Given the description of an element on the screen output the (x, y) to click on. 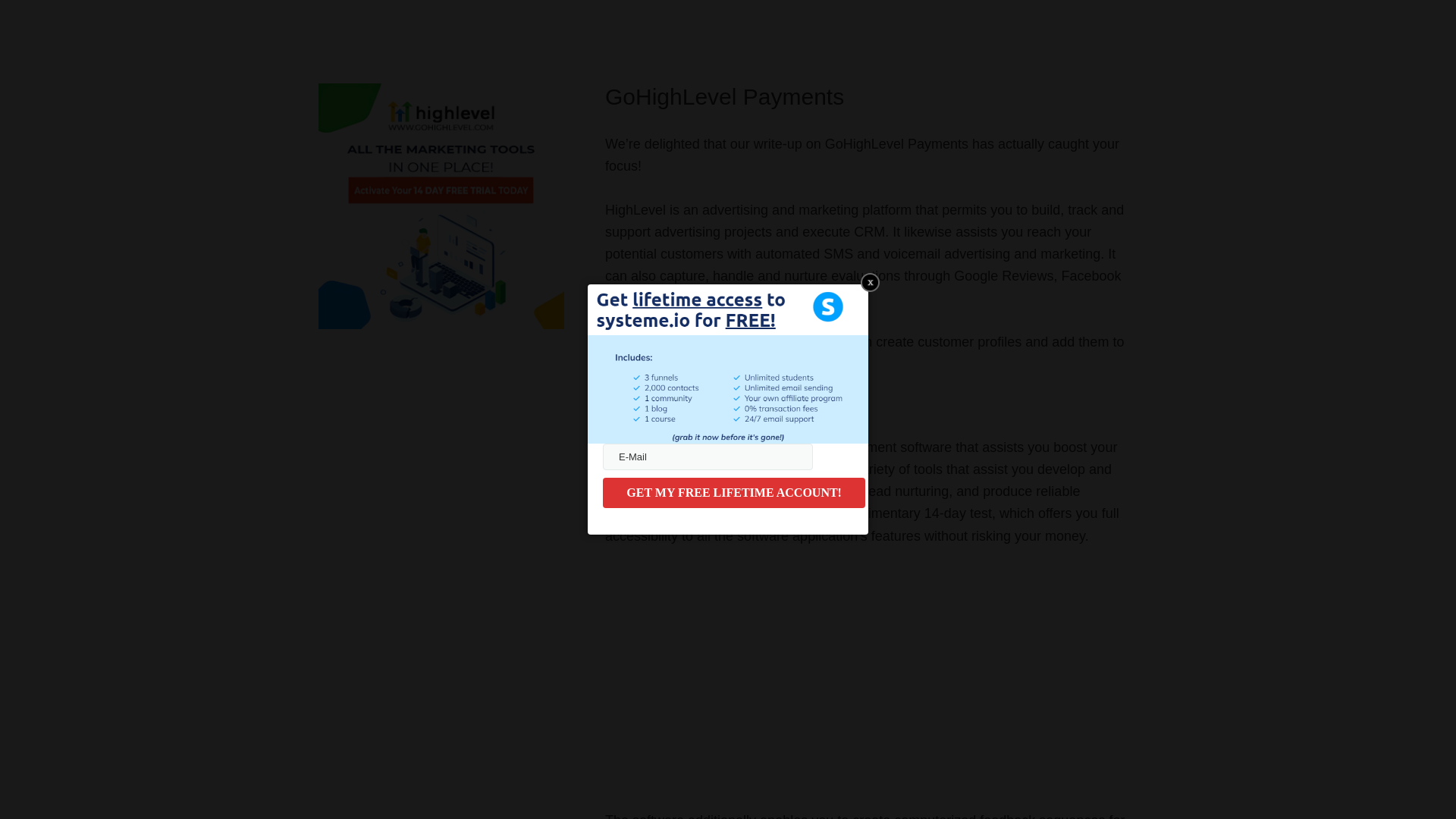
GET MY FREE LIFETIME ACCOUNT! (733, 492)
GET MY FREE LIFETIME ACCOUNT! (733, 492)
Welcome To HighLevel (794, 675)
